Given the description of an element on the screen output the (x, y) to click on. 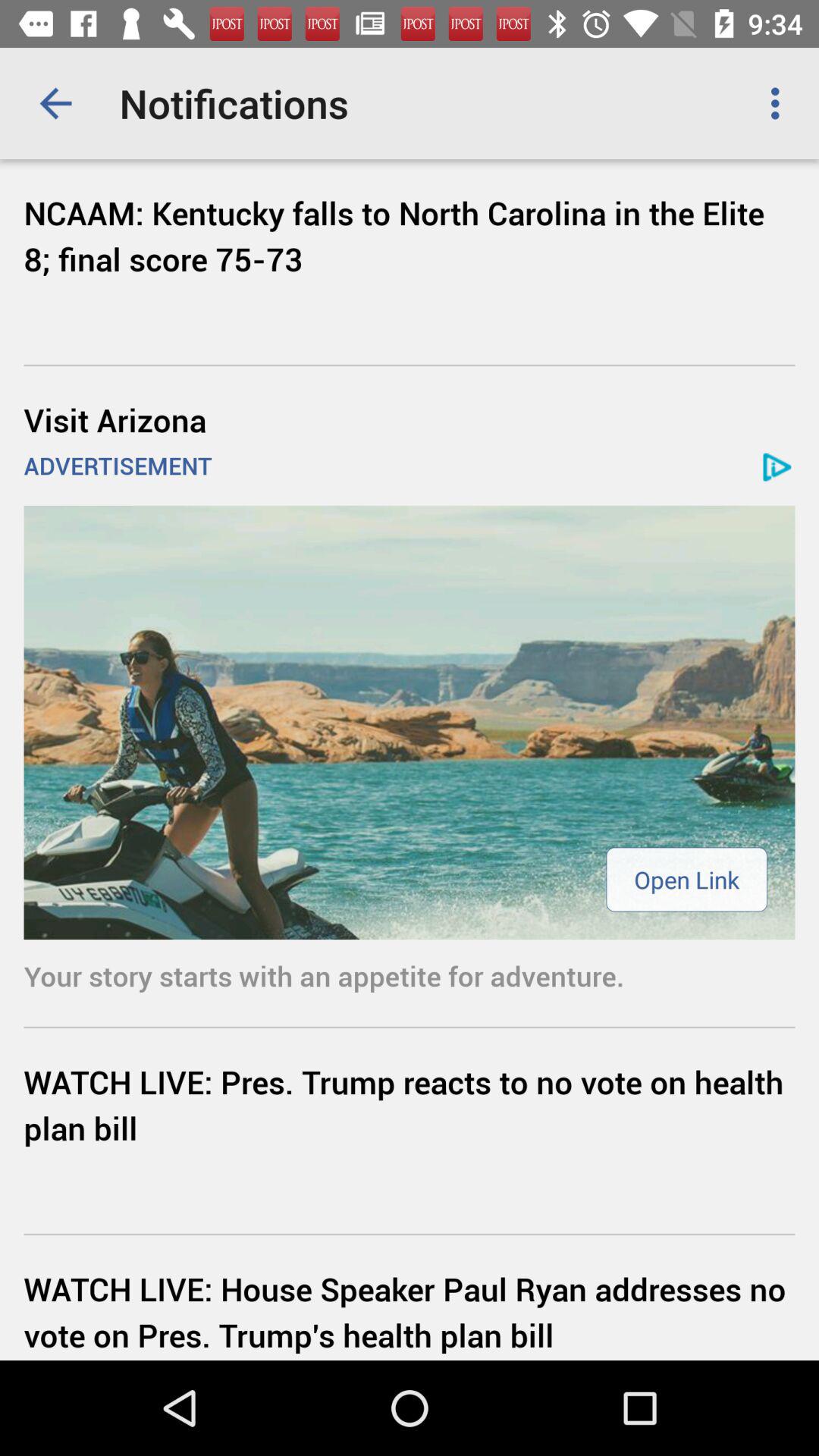
select the item below advertisement item (686, 879)
